Given the description of an element on the screen output the (x, y) to click on. 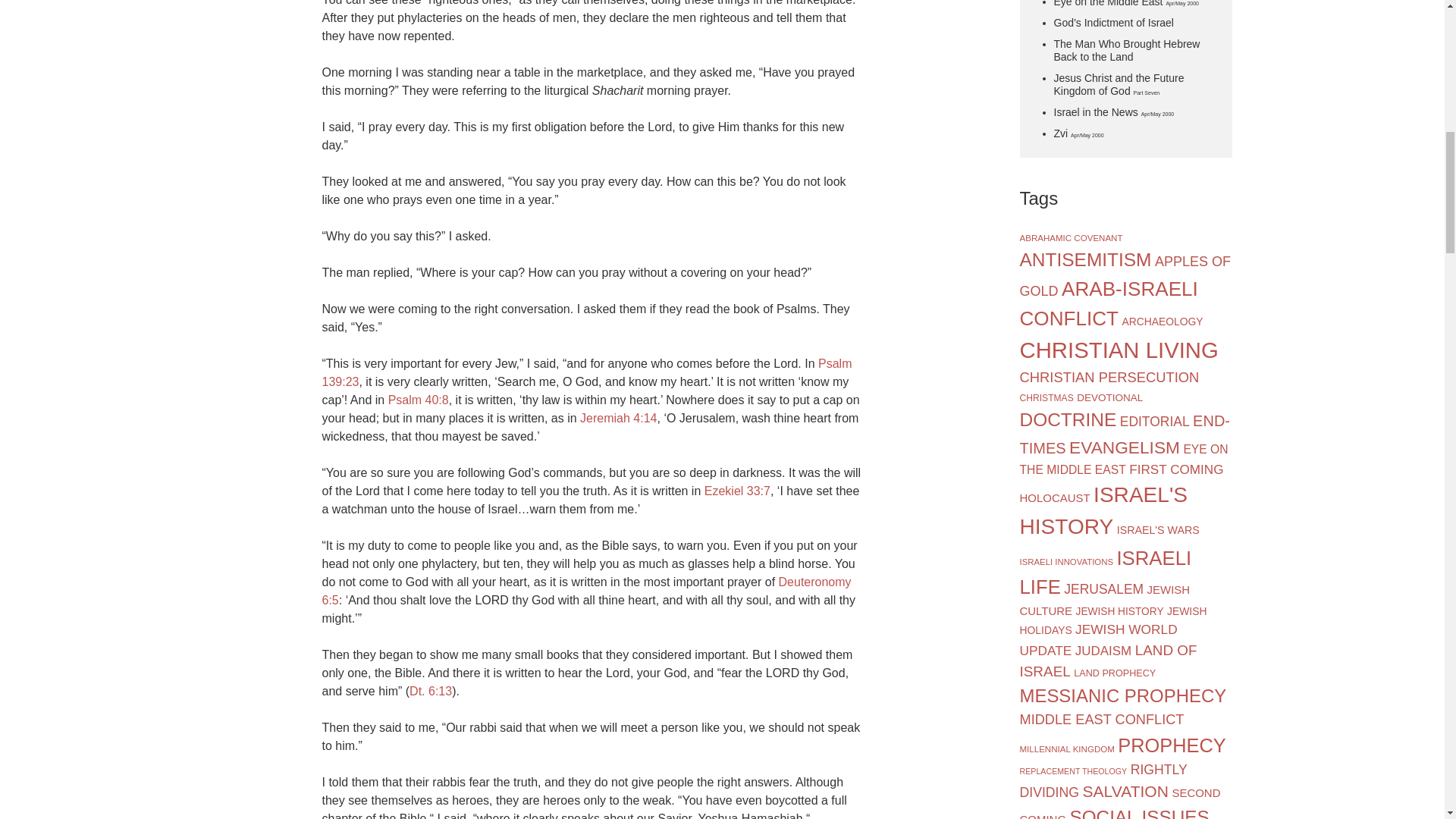
Deuteronomy 6:5 (585, 590)
Jeremiah 4:14 (617, 418)
Ezekiel 33:7 (737, 490)
Dt. 6:13 (430, 690)
Psalm 40:8 (418, 399)
Psalm 139:23 (586, 372)
